Given the description of an element on the screen output the (x, y) to click on. 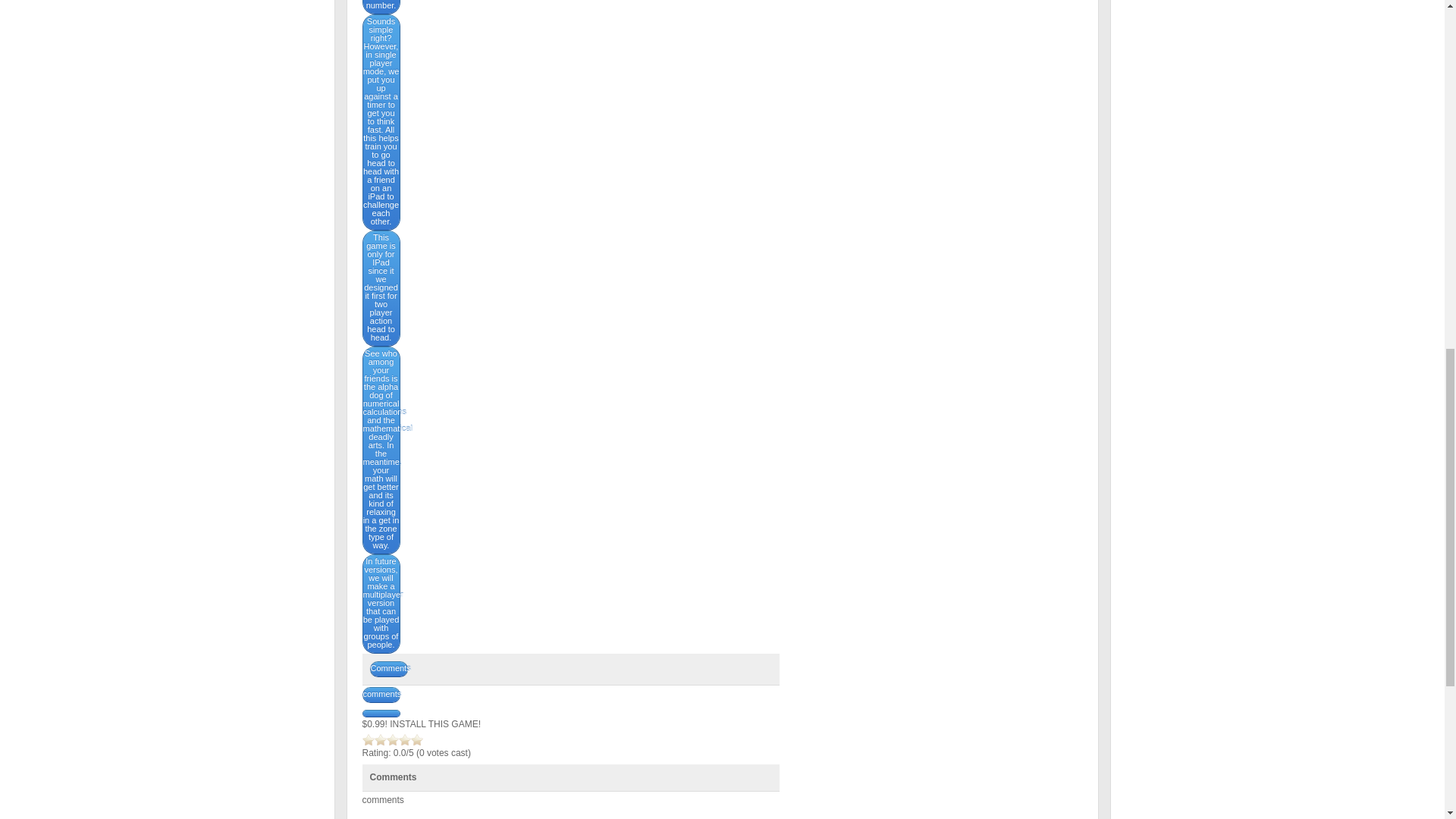
Comments (388, 668)
comments (381, 694)
